Given the description of an element on the screen output the (x, y) to click on. 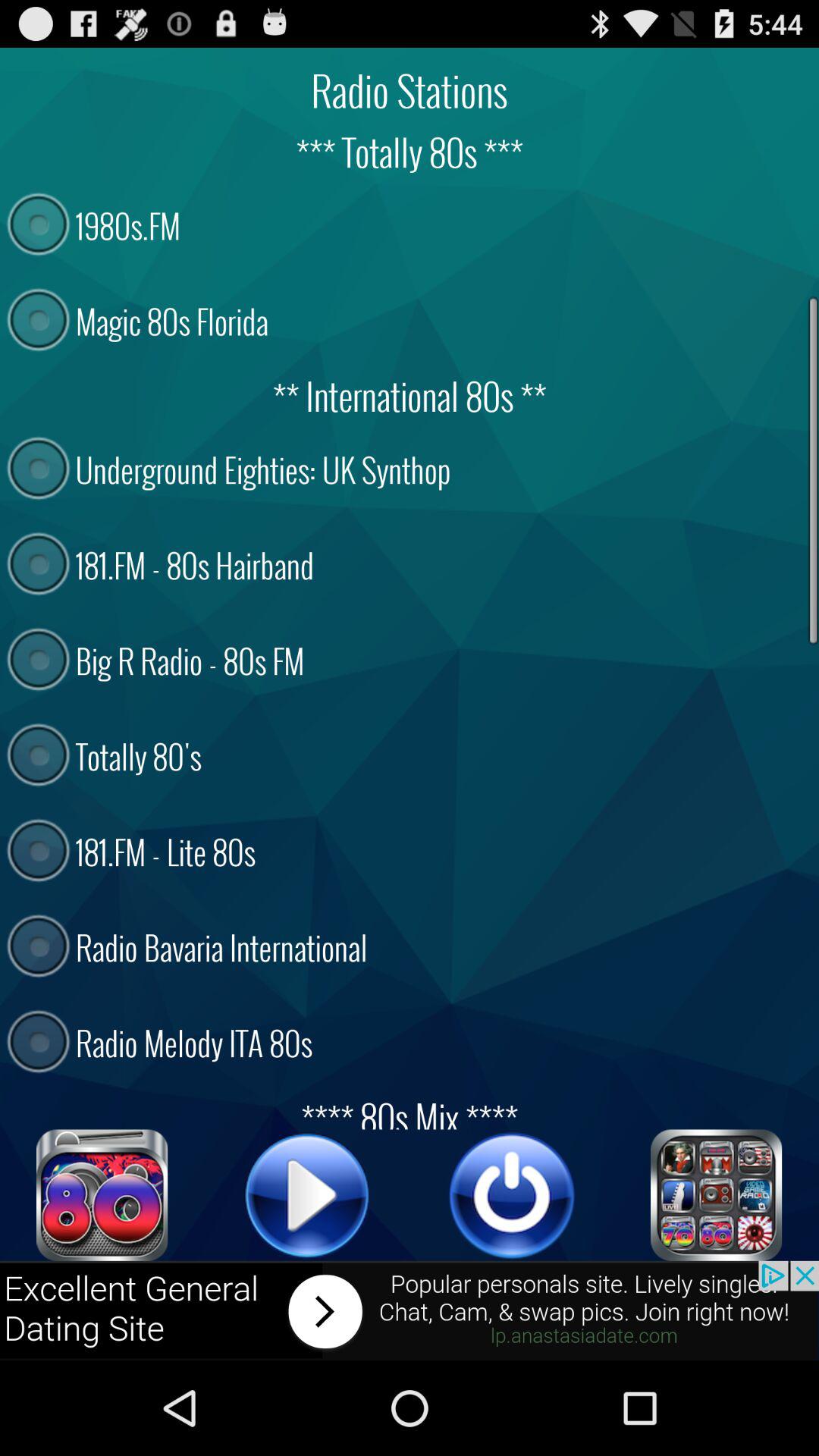
play audio (511, 1194)
